Given the description of an element on the screen output the (x, y) to click on. 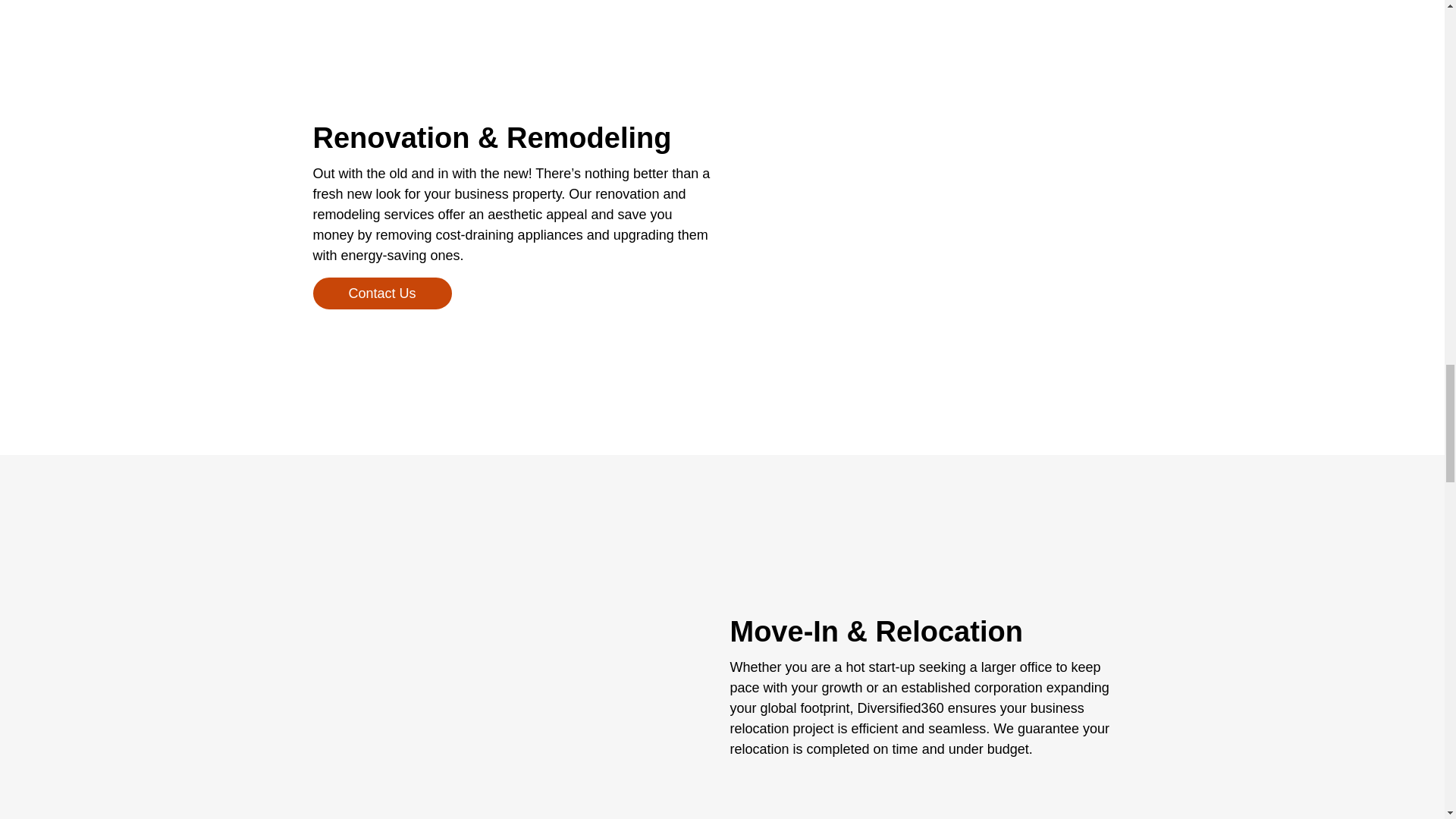
Contact Us (382, 293)
